Given the description of an element on the screen output the (x, y) to click on. 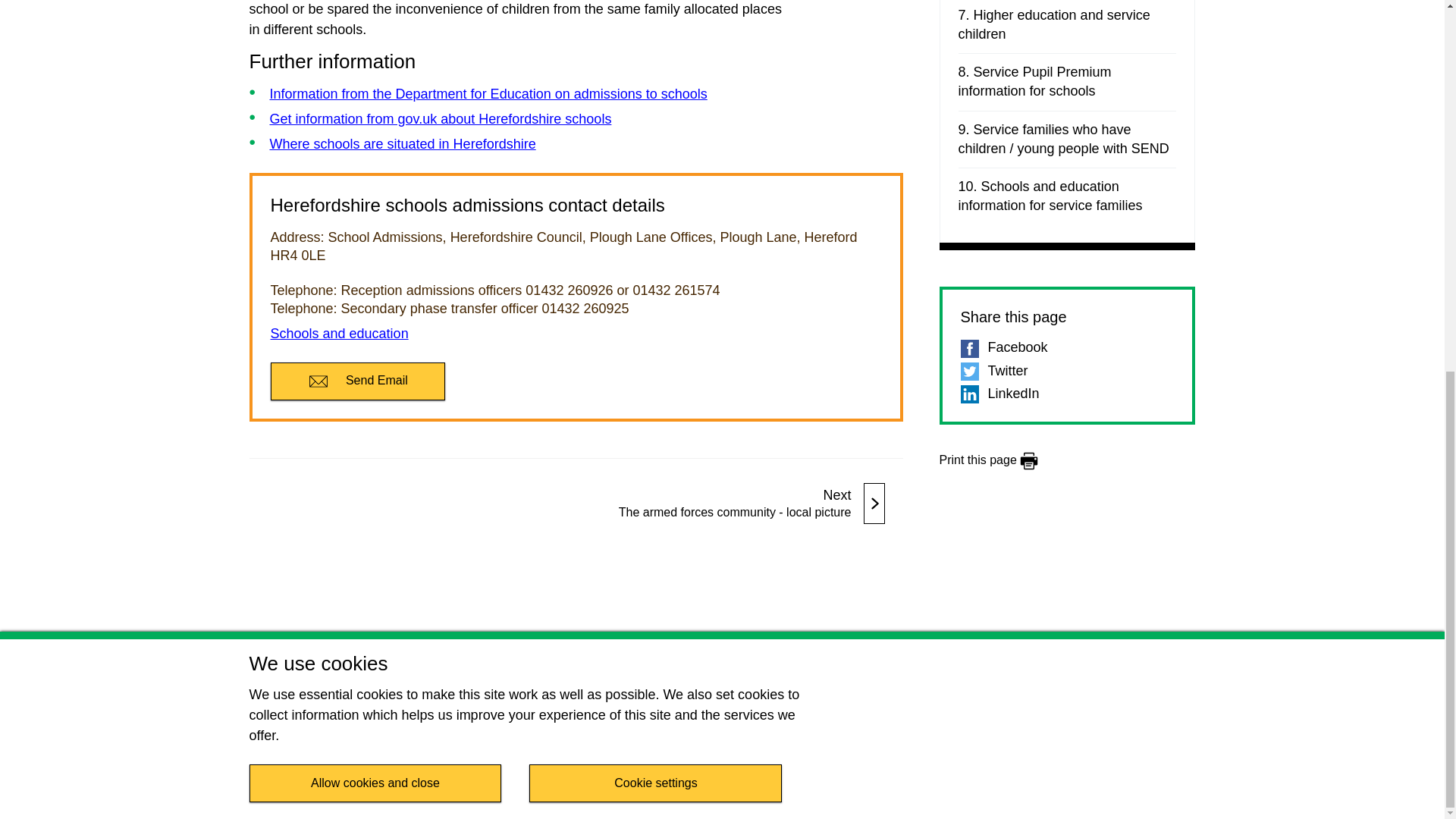
Get information from gov.uk about Herefordshire schools (440, 118)
Send Email (356, 381)
Service Pupil Premium information for schools (1067, 81)
Allow cookies and close (374, 106)
Schools and education information for service families (1067, 196)
Herefordshire Council Home Page (1081, 698)
Schools and education (739, 503)
Where schools are situated in Herefordshire (338, 334)
